Given the description of an element on the screen output the (x, y) to click on. 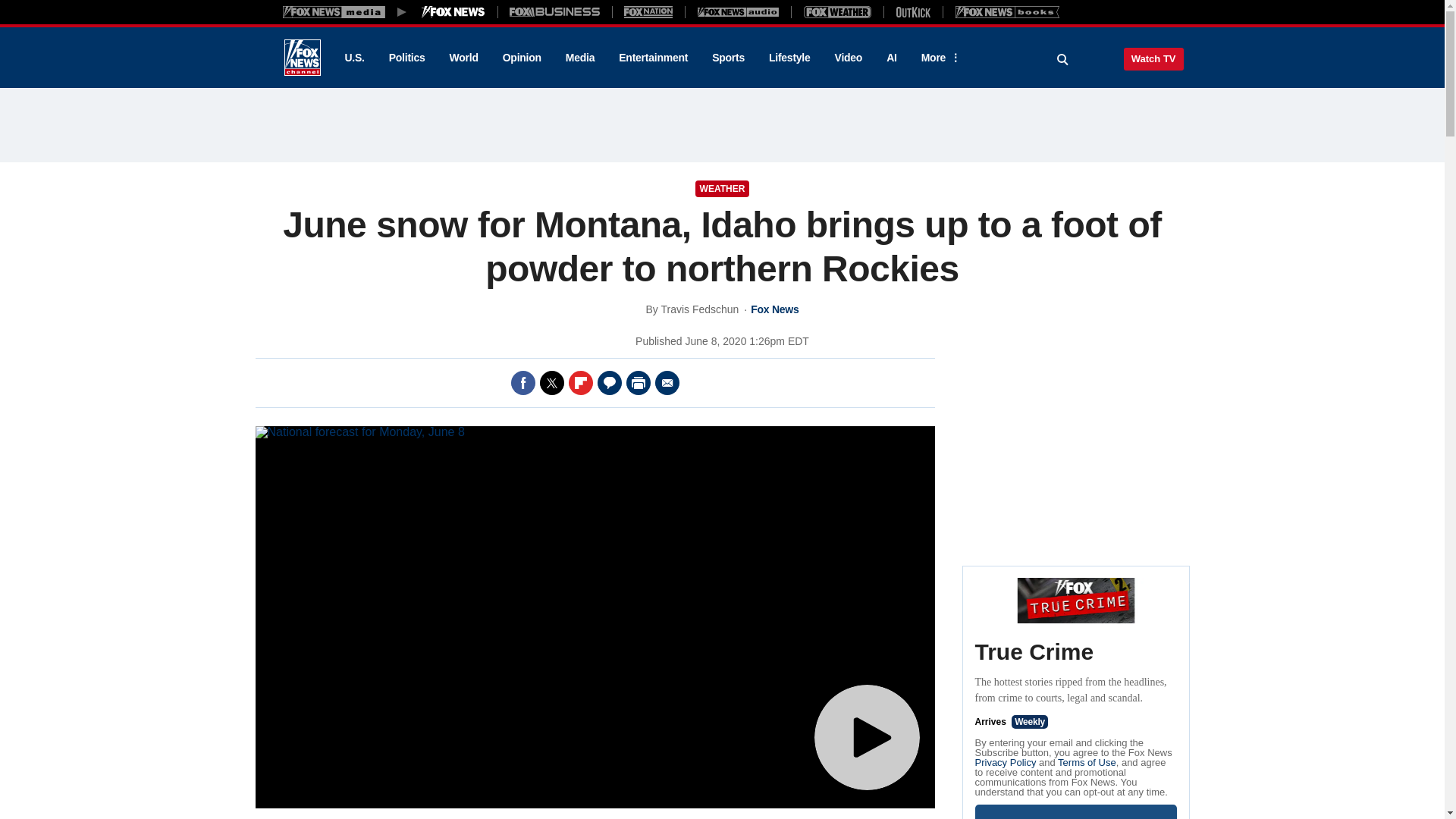
More (938, 57)
Fox Weather (836, 11)
Watch TV (1153, 58)
Lifestyle (789, 57)
World (464, 57)
Fox Business (554, 11)
AI (891, 57)
Fox Nation (648, 11)
Fox News Media (453, 11)
Video (848, 57)
